Given the description of an element on the screen output the (x, y) to click on. 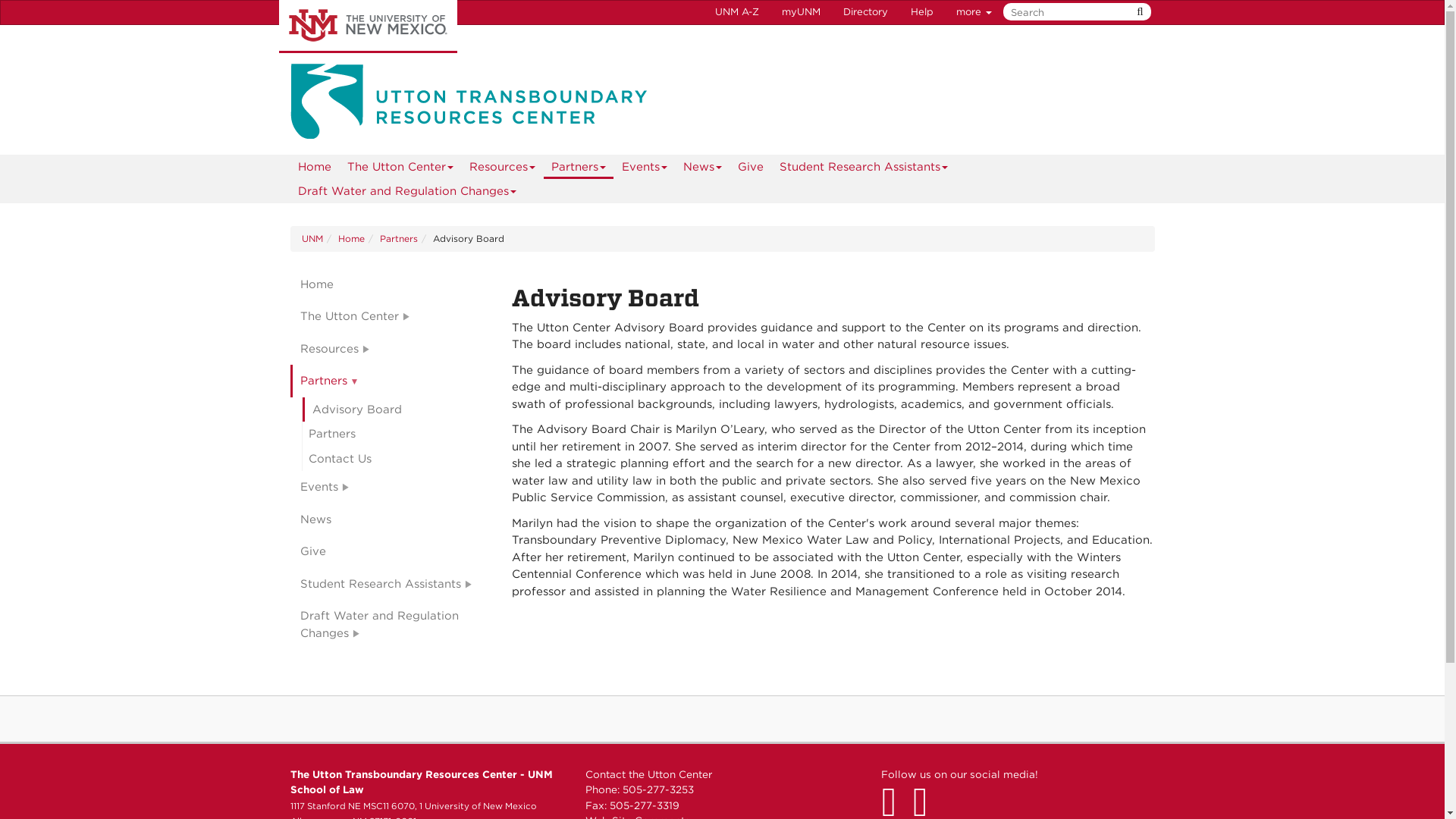
Home (313, 166)
Directory (865, 11)
UNM A to Z (736, 11)
The University of New Mexico (368, 26)
The Utton Center  (400, 166)
Help (921, 11)
myUNM (800, 11)
Directory (865, 11)
myUNM (800, 11)
Home (313, 166)
